Given the description of an element on the screen output the (x, y) to click on. 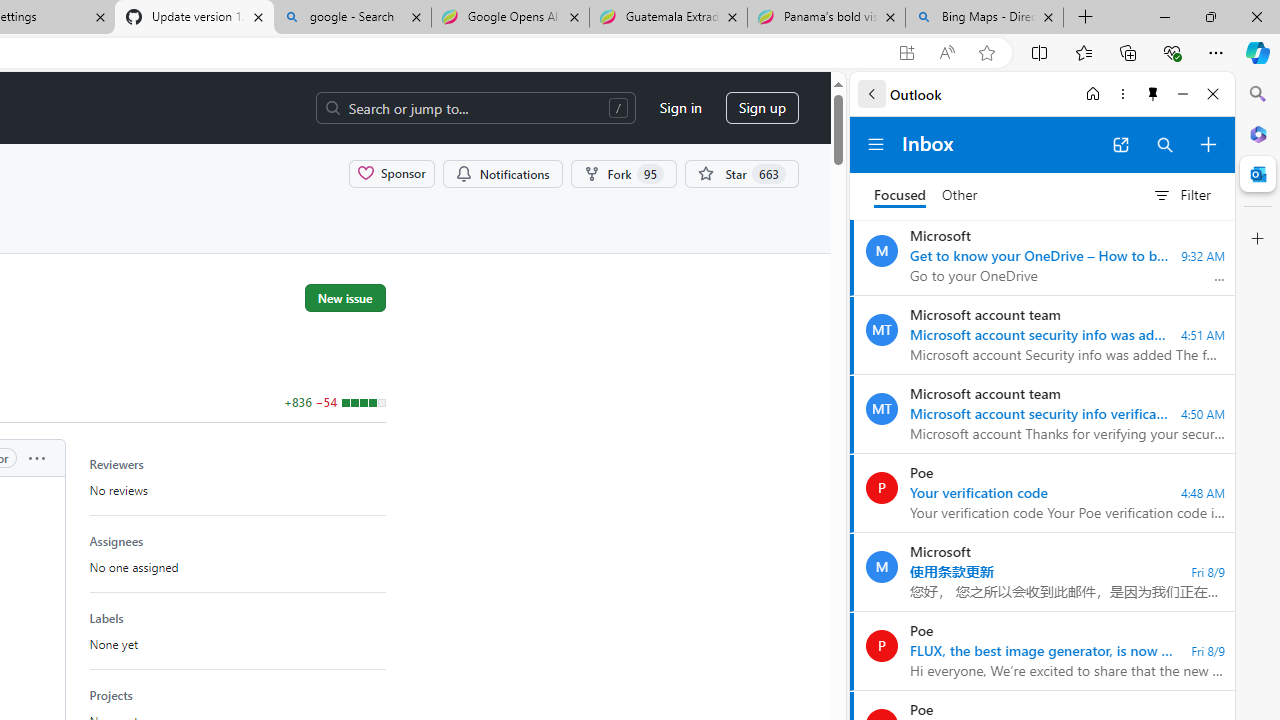
Show options (36, 457)
Show options (36, 458)
Open in new tab (1120, 144)
